Given the description of an element on the screen output the (x, y) to click on. 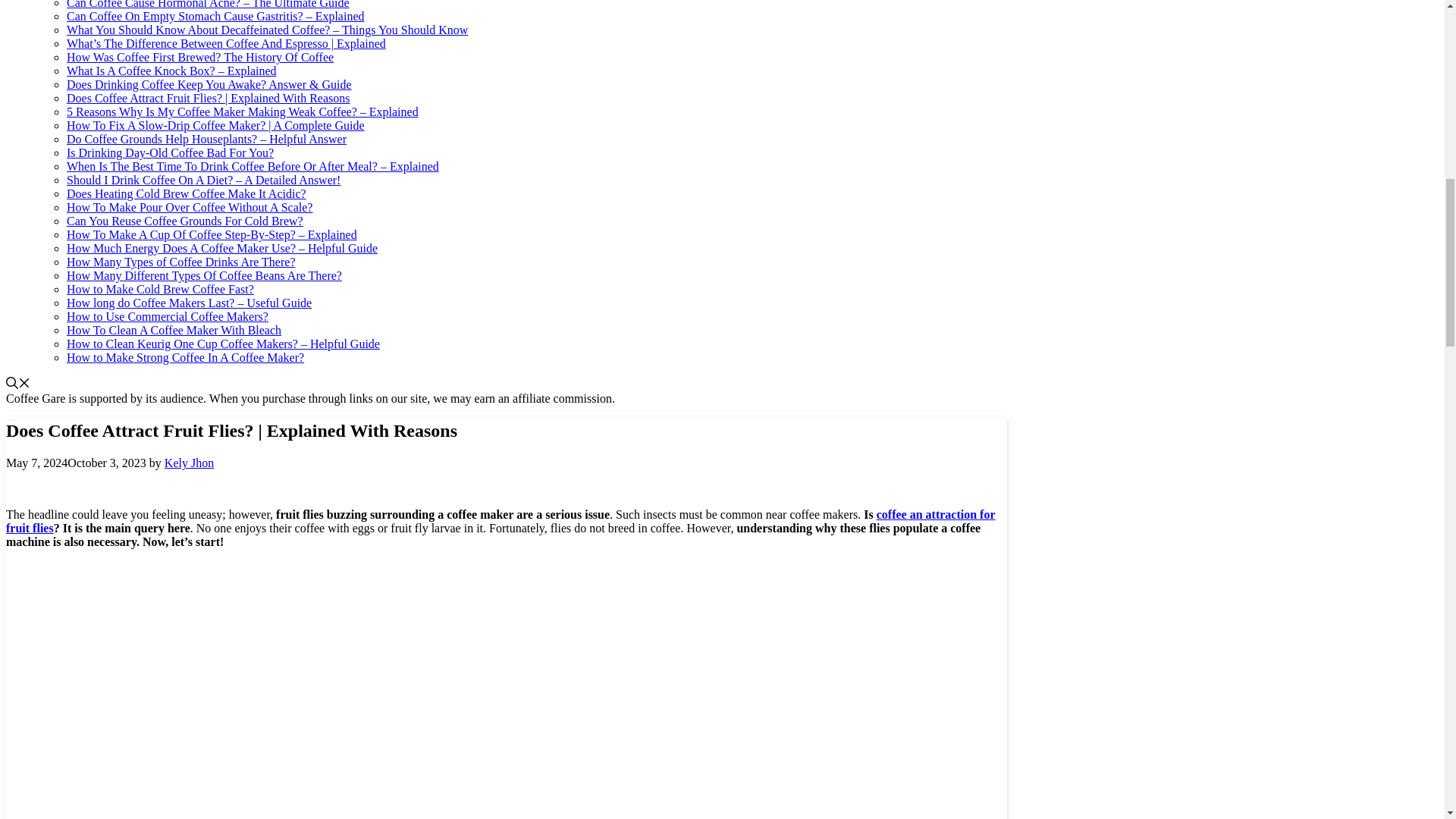
View all posts by Kely Jhon (189, 462)
